Given the description of an element on the screen output the (x, y) to click on. 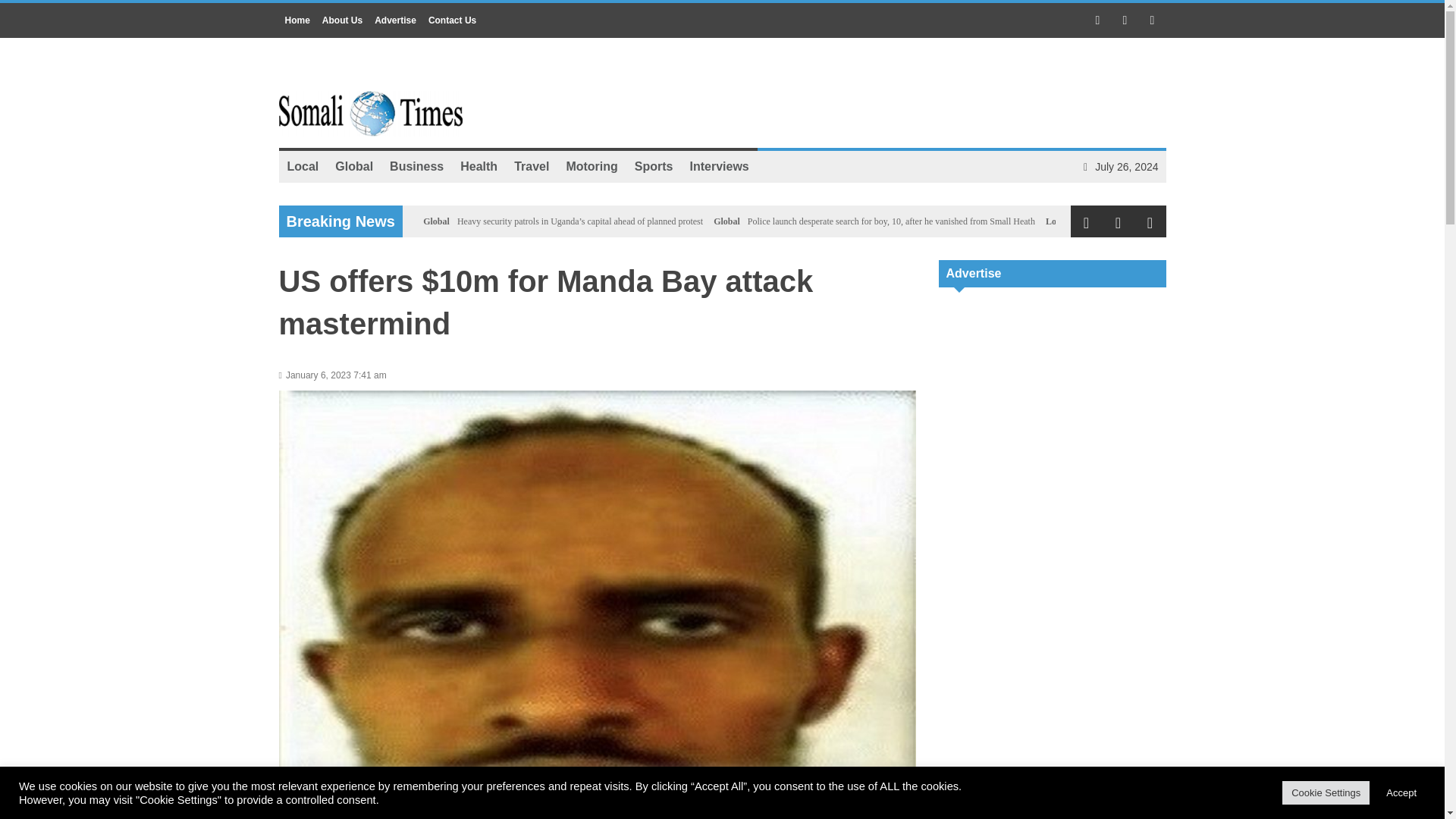
Global (353, 166)
Global (436, 221)
Health (478, 166)
About Us (341, 20)
Contact Us (451, 20)
Advertisement (1052, 397)
Advertise (395, 20)
Motoring (591, 166)
Local (303, 166)
Business (416, 166)
Travel (531, 166)
Advertisement (1052, 787)
Interviews (719, 166)
Sports (653, 166)
Home (297, 20)
